Given the description of an element on the screen output the (x, y) to click on. 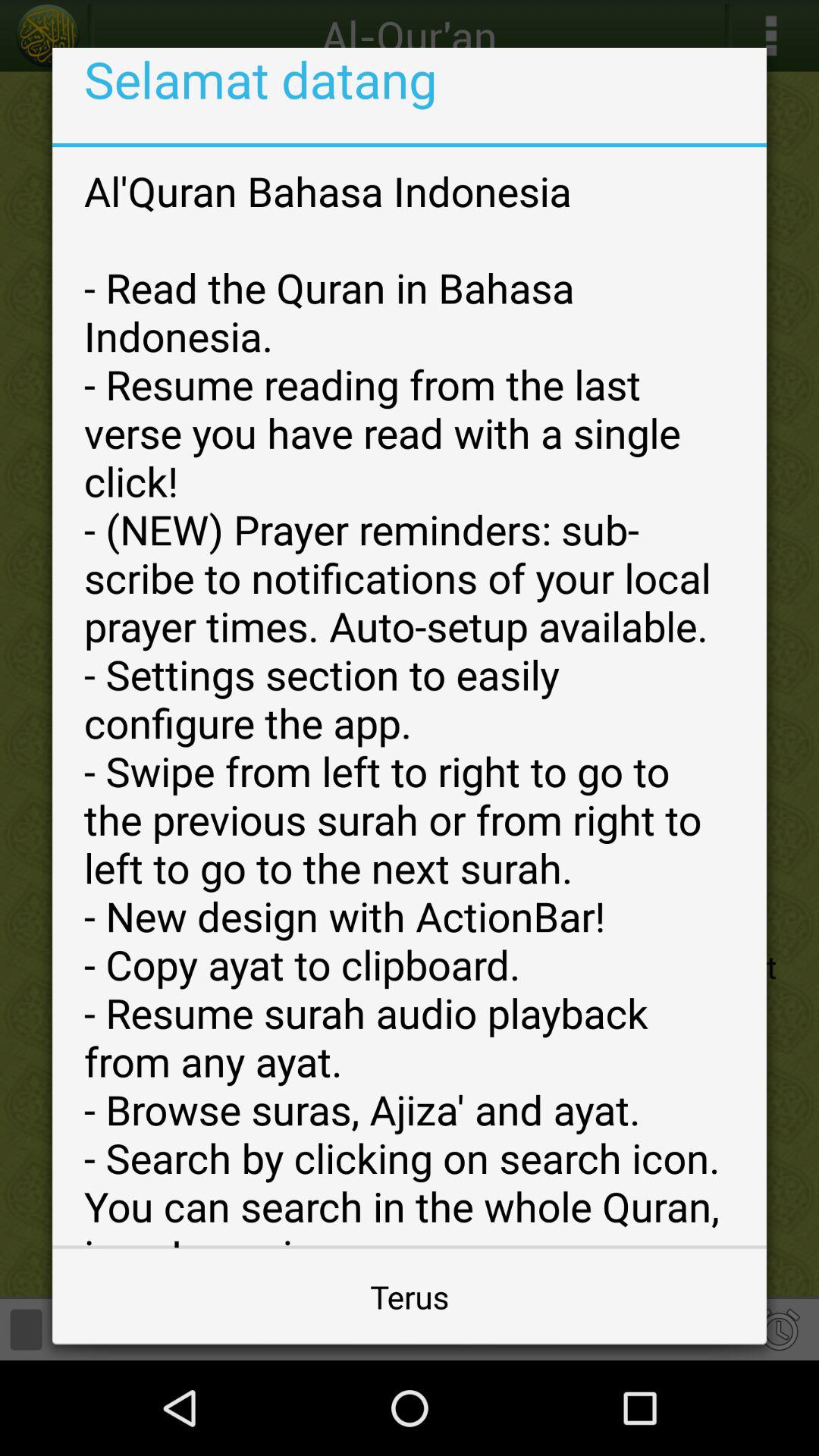
click app below the al quran bahasa app (409, 1296)
